Given the description of an element on the screen output the (x, y) to click on. 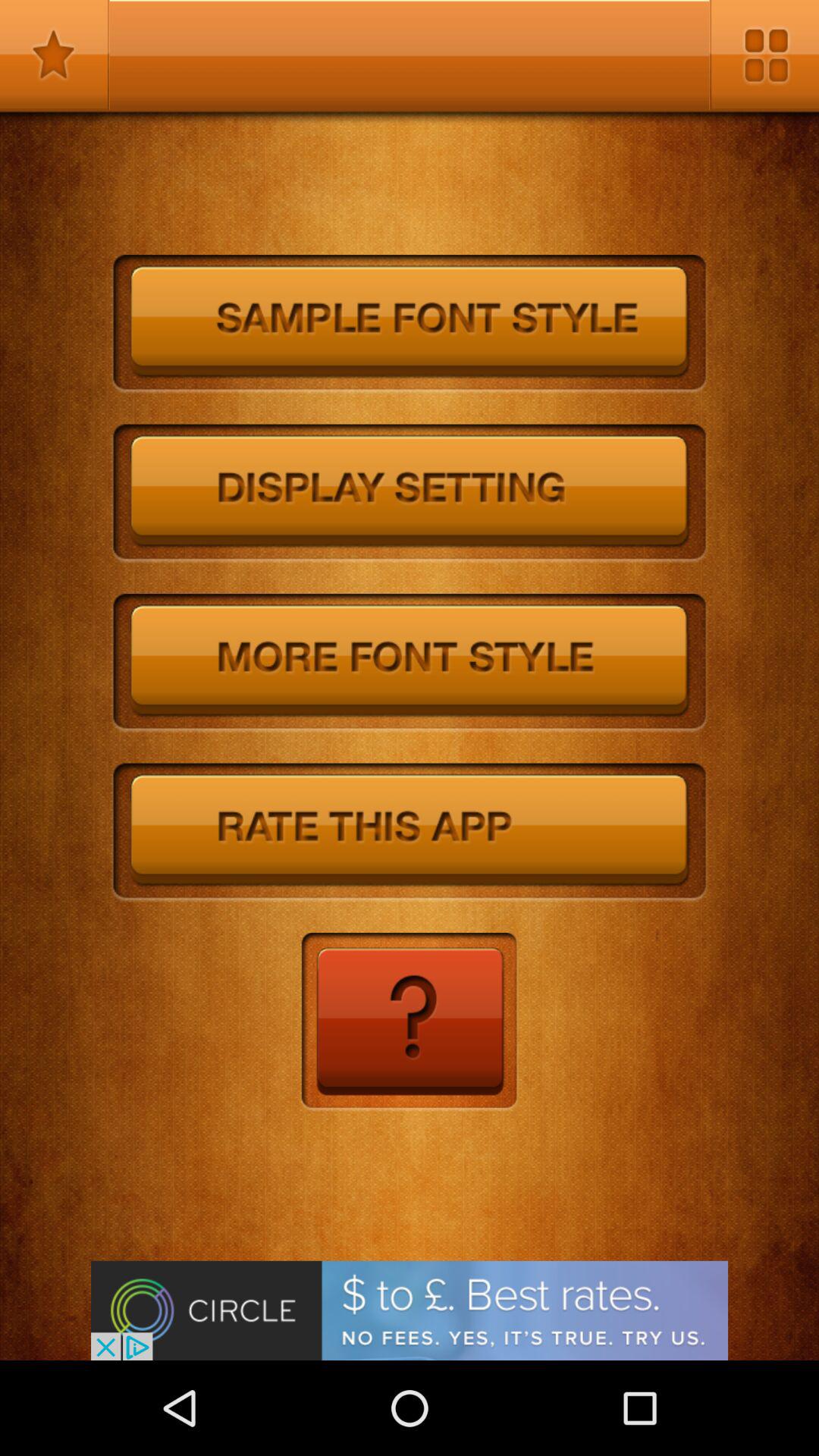
view font styles (409, 663)
